Given the description of an element on the screen output the (x, y) to click on. 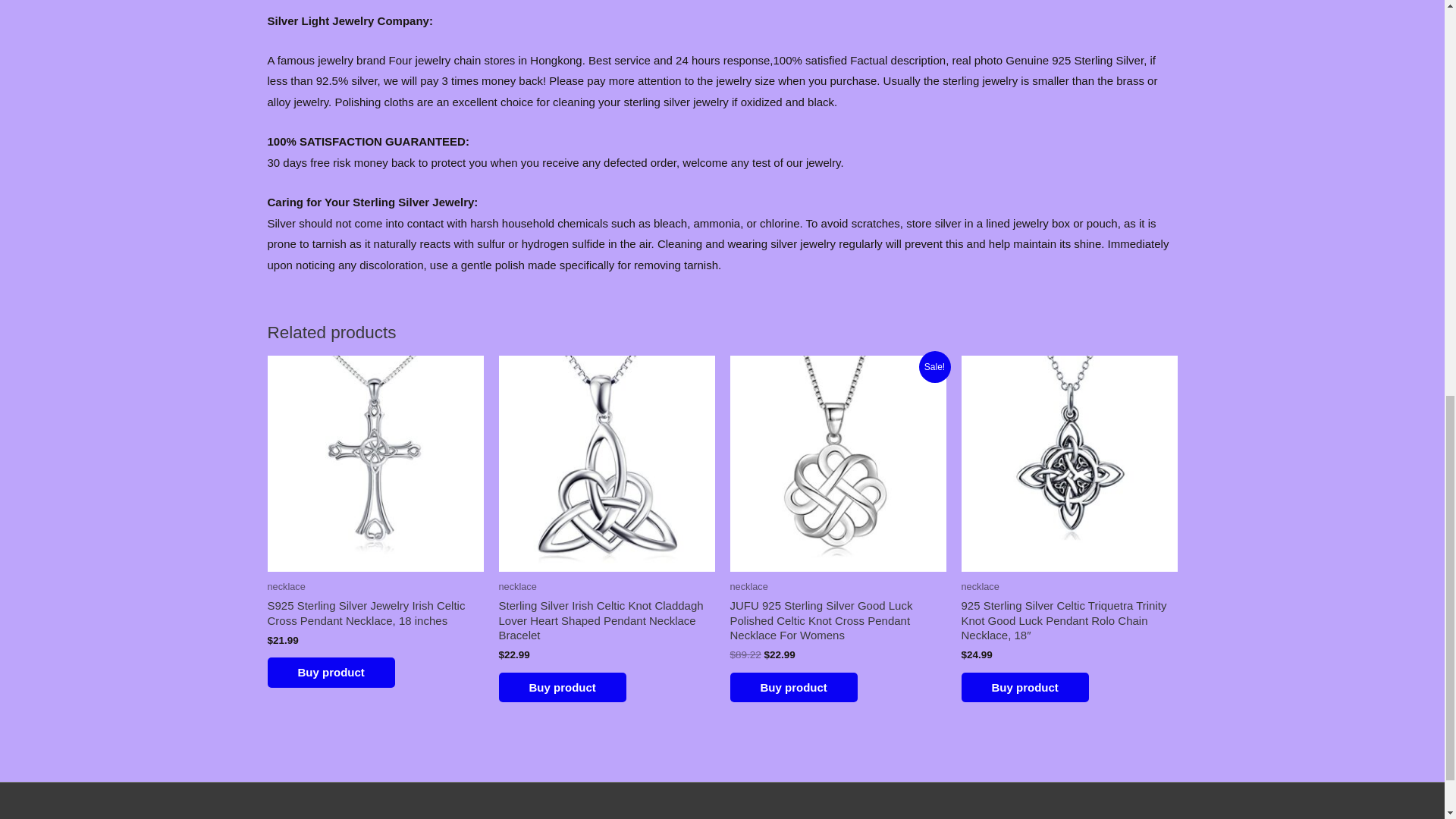
Buy product (793, 687)
Buy product (562, 687)
Buy product (1024, 687)
Buy product (330, 672)
